Given the description of an element on the screen output the (x, y) to click on. 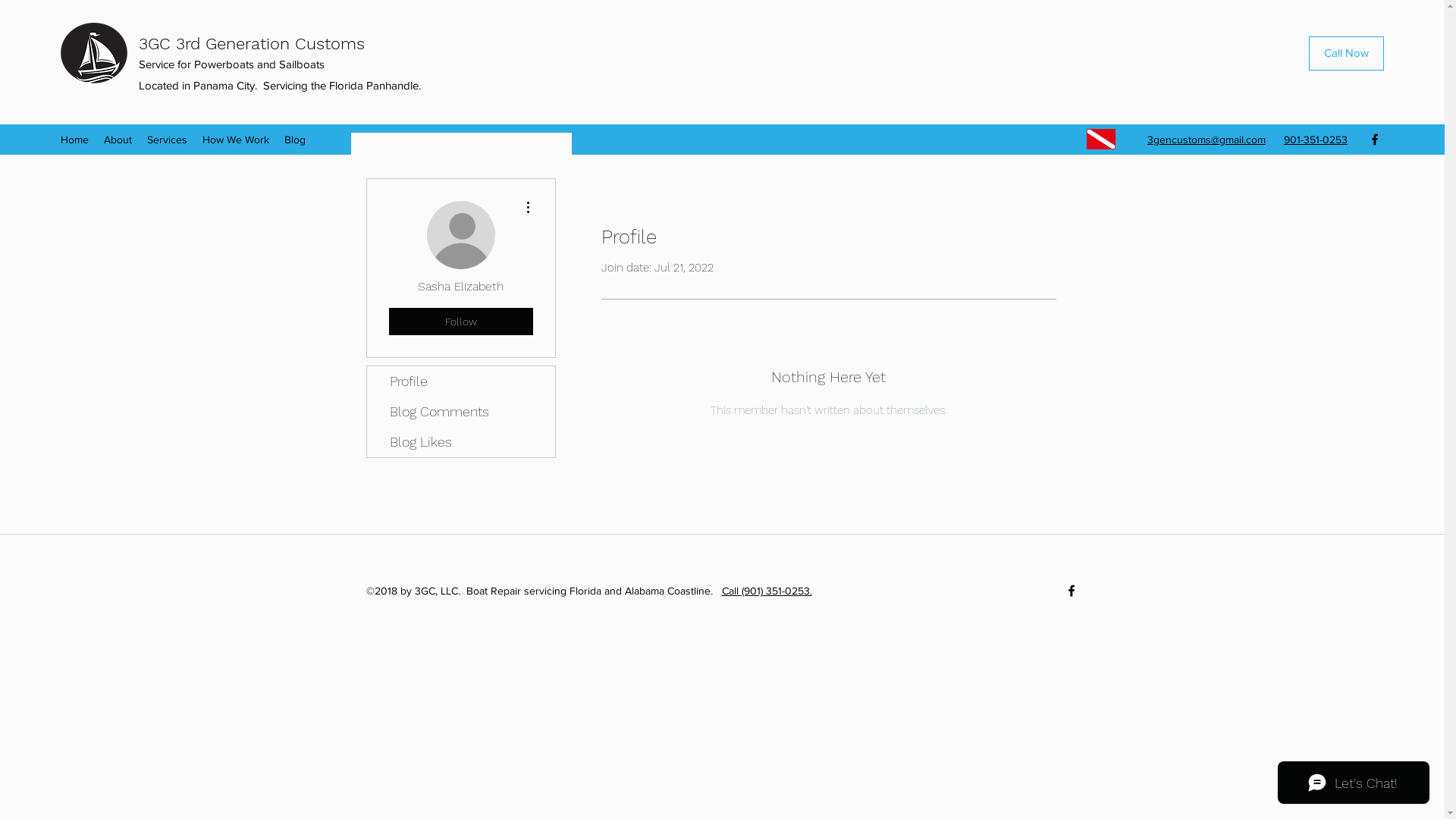
Follow Element type: text (460, 321)
Blog Likes Element type: text (461, 441)
Blog Element type: text (294, 139)
Call (901) 351-0253. Element type: text (766, 590)
Profile Element type: text (461, 381)
Blog Comments Element type: text (461, 411)
About Element type: text (117, 139)
Home Element type: text (74, 139)
Call Now Element type: text (1345, 53)
3GC 3rd Generation Customs Element type: text (251, 43)
Services Element type: text (166, 139)
How We Work Element type: text (235, 139)
901-351-0253 Element type: text (1315, 139)
3gencustoms@gmail.com Element type: text (1206, 139)
